Given the description of an element on the screen output the (x, y) to click on. 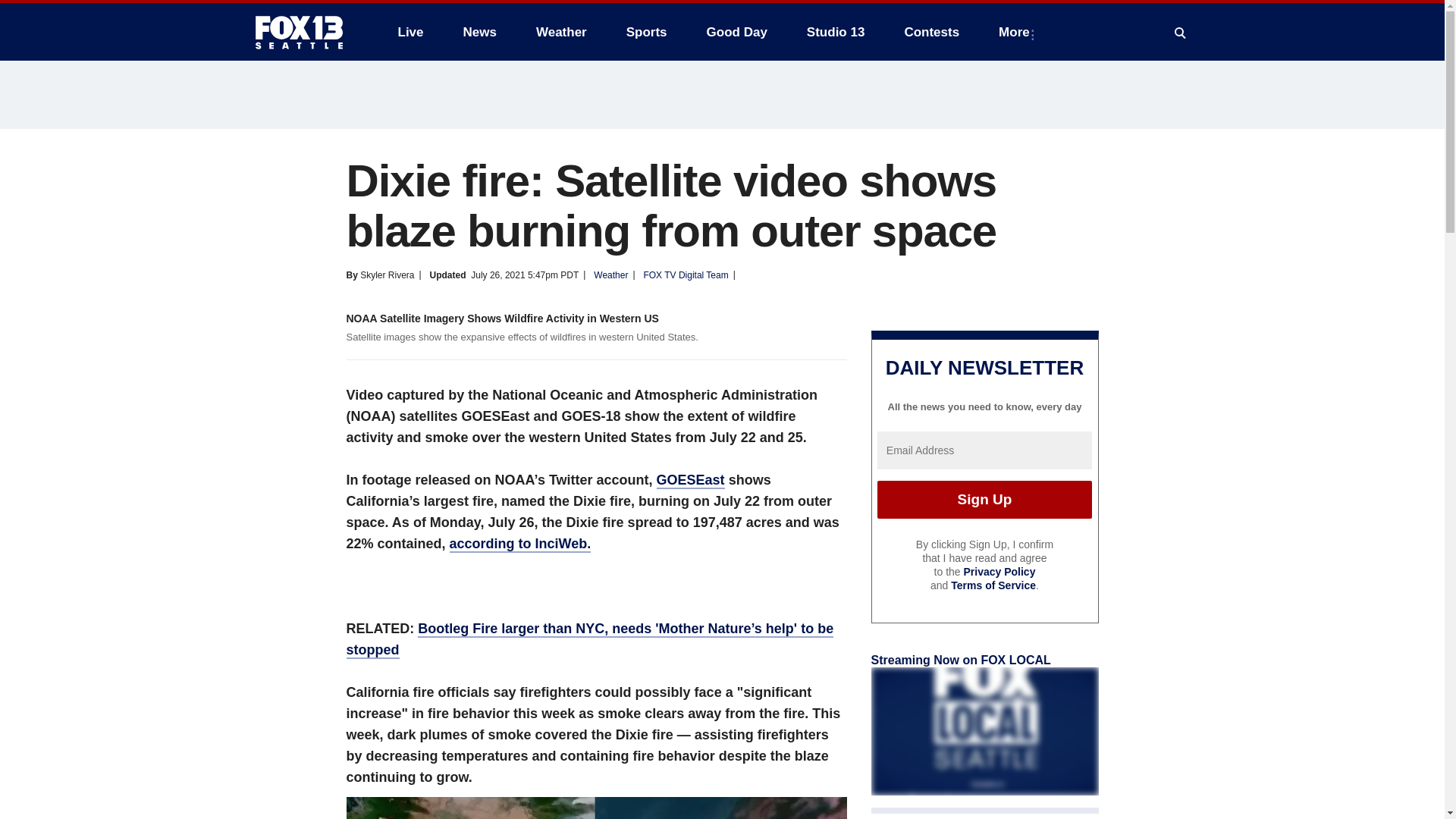
Contests (931, 32)
Live (410, 32)
Weather (561, 32)
Good Day (736, 32)
Sign Up (984, 499)
News (479, 32)
More (1017, 32)
Studio 13 (835, 32)
Sports (646, 32)
